Given the description of an element on the screen output the (x, y) to click on. 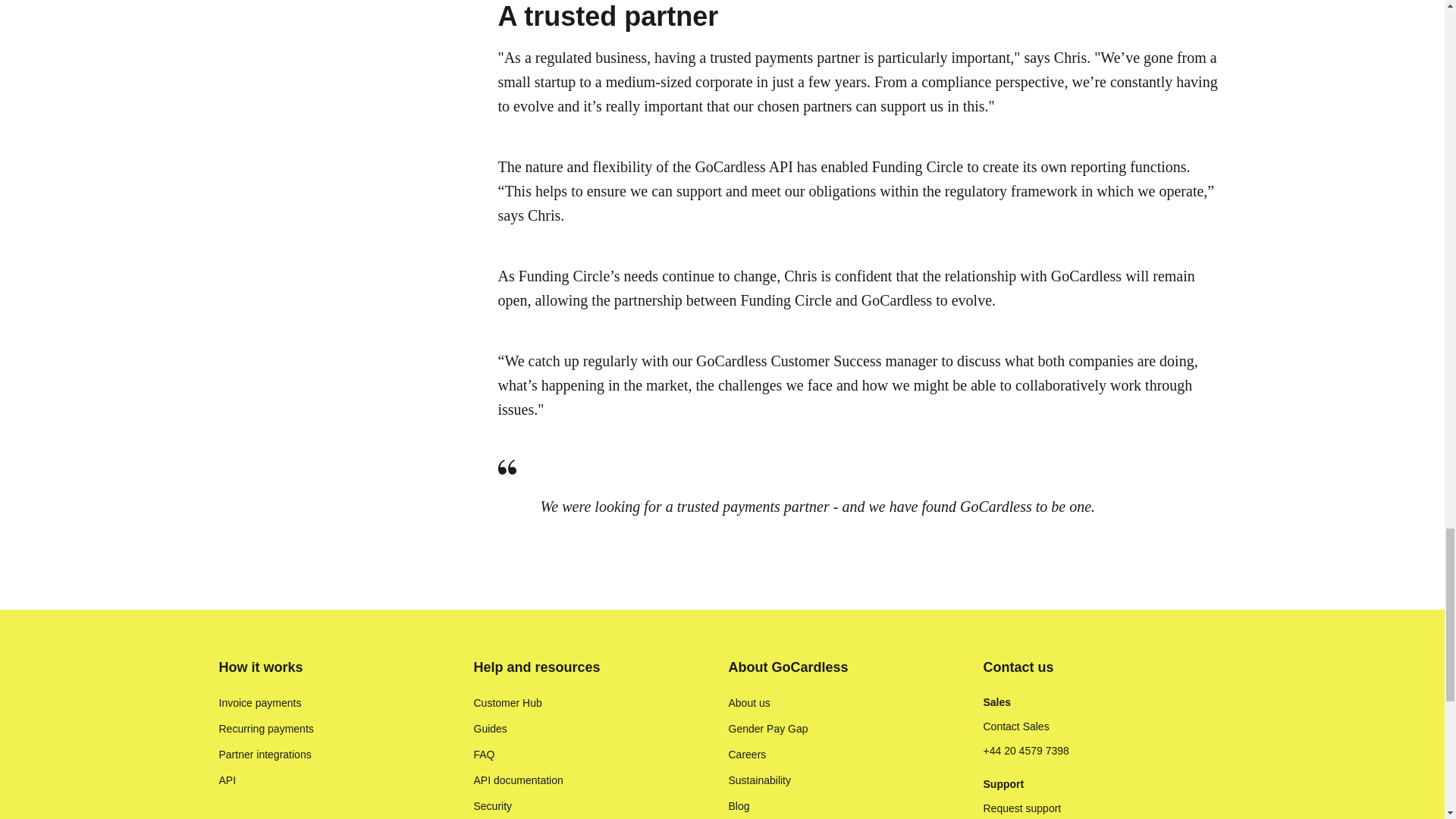
FAQ (484, 754)
API (226, 780)
Gender Pay Gap (768, 728)
About us (749, 702)
API documentation (517, 780)
Guides (489, 728)
Partner integrations (264, 754)
Blog (738, 806)
Sustainability (759, 780)
Security (492, 806)
